Given the description of an element on the screen output the (x, y) to click on. 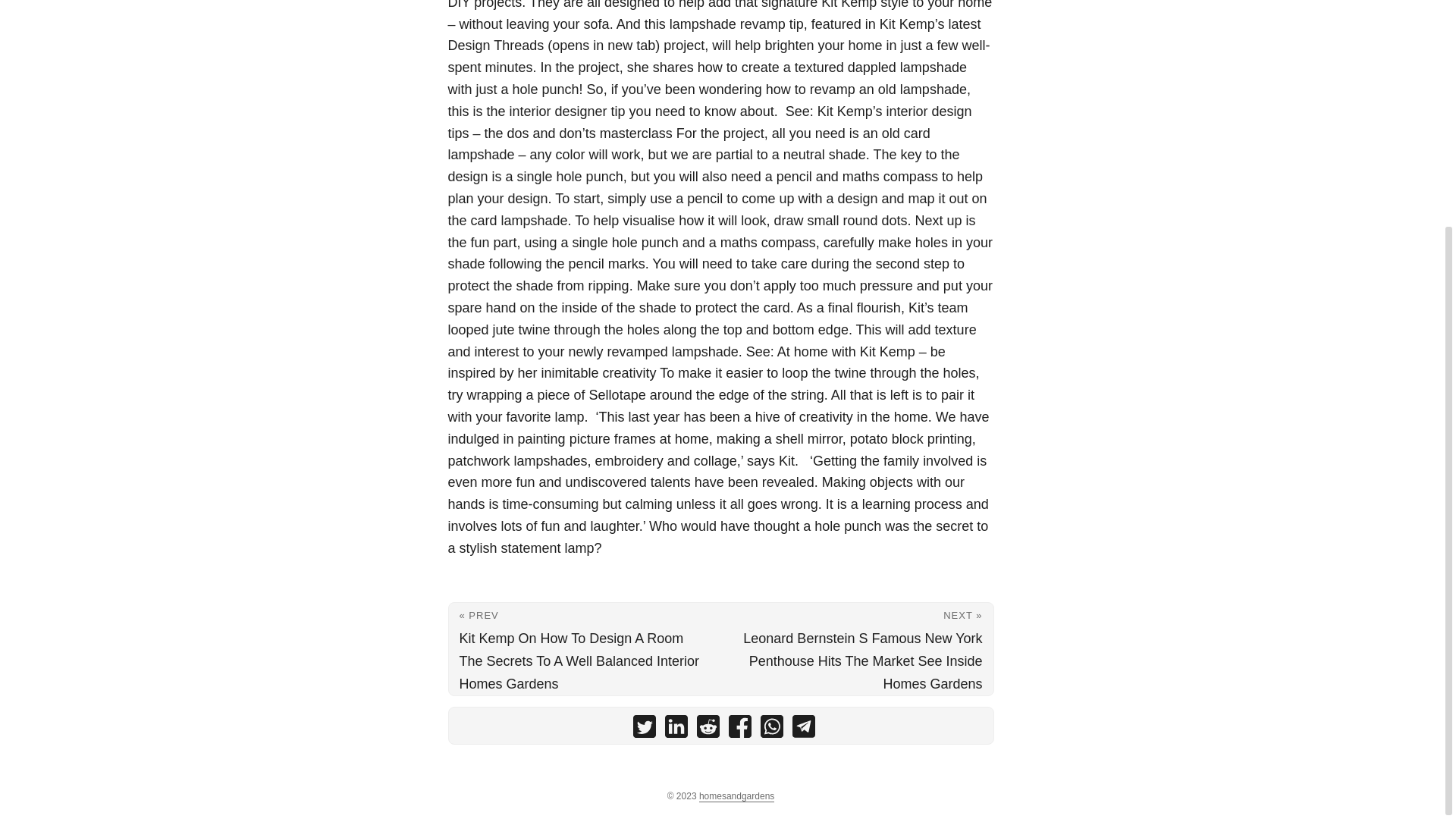
homesandgardens (736, 796)
